Given the description of an element on the screen output the (x, y) to click on. 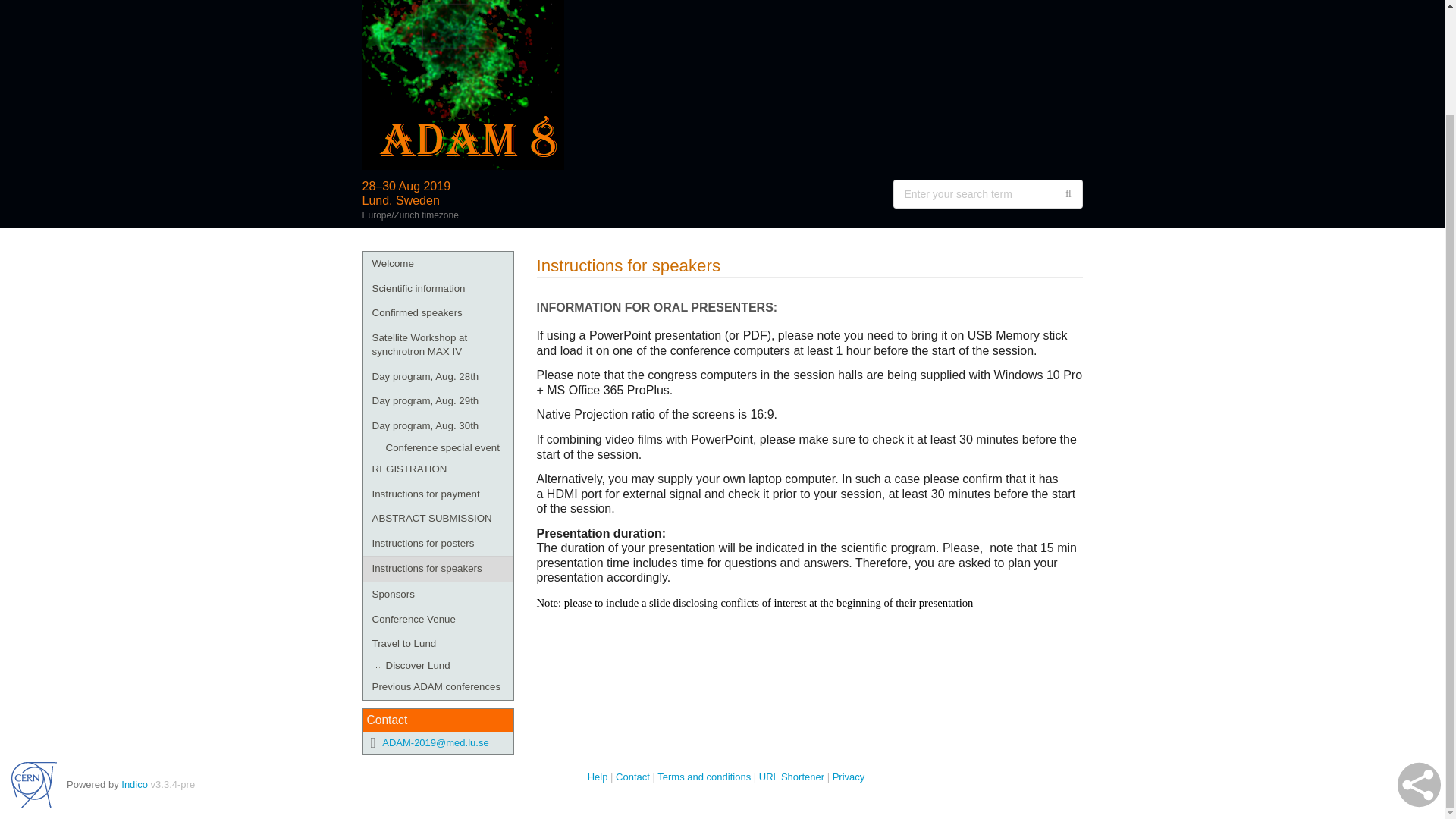
Confirmed speakers (437, 313)
Scientific information (437, 289)
Satellite Workshop at synchrotron MAX IV (437, 344)
Welcome (437, 263)
Day program, Aug. 30th (437, 426)
Day program, Aug. 29th (437, 401)
Day program, Aug. 28th (437, 376)
